Given the description of an element on the screen output the (x, y) to click on. 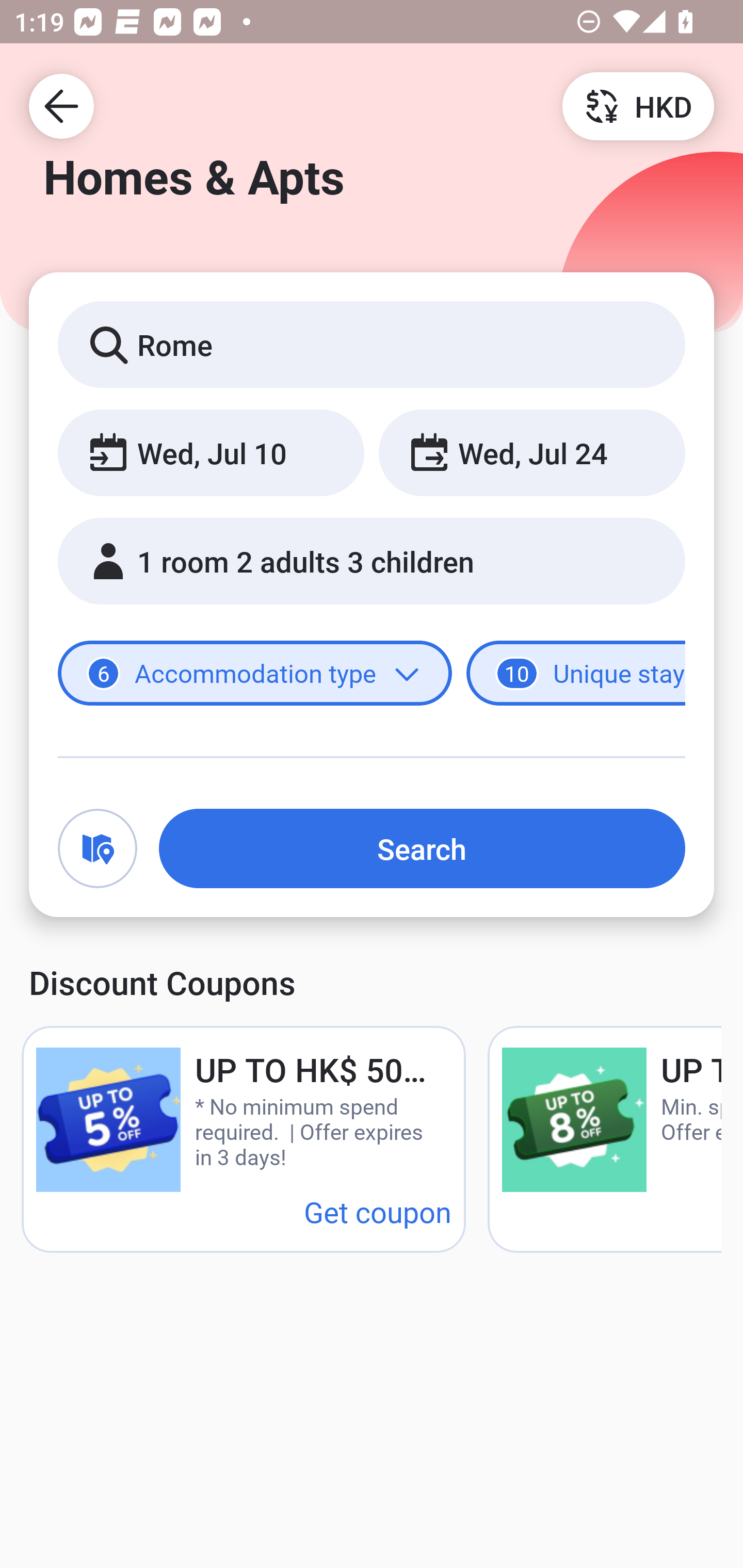
HKD (638, 105)
Rome (371, 344)
Wed, Jul 10 (210, 452)
Wed, Jul 24 (531, 452)
1 room 2 adults 3 children (371, 561)
6 Accommodation type (254, 673)
10 Unique stays (575, 673)
Search (422, 848)
Get coupon (377, 1211)
